Given the description of an element on the screen output the (x, y) to click on. 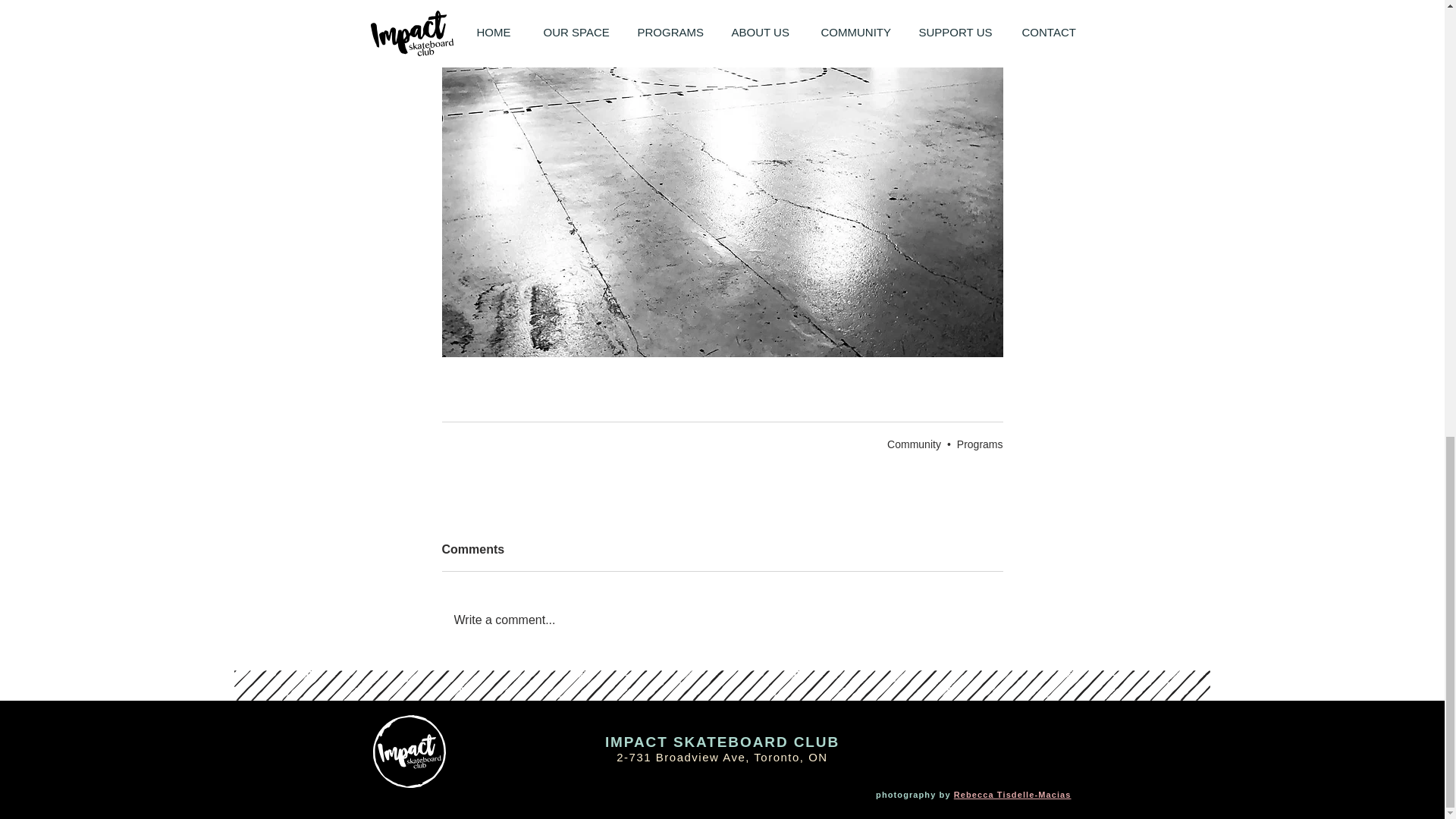
Community (913, 444)
